Given the description of an element on the screen output the (x, y) to click on. 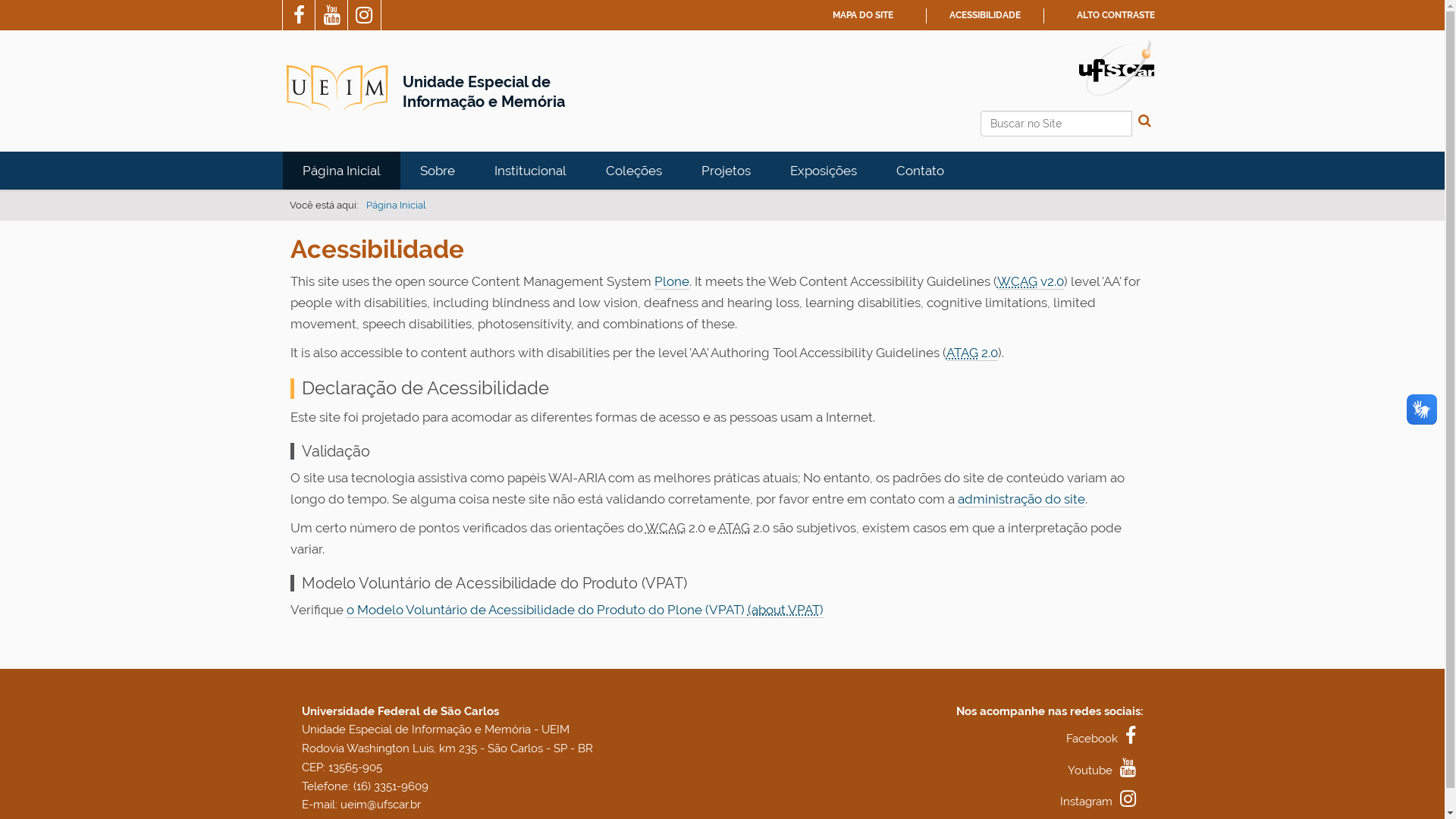
Contato Element type: text (919, 170)
MAPA DO SITE Element type: text (862, 14)
ATAG 2.0 Element type: text (971, 352)
Facebook Element type: text (1104, 738)
Facebook Element type: hover (299, 17)
Projetos Element type: text (724, 170)
Plone Element type: text (670, 281)
ALTO CONTRASTE Element type: text (1115, 14)
Institucional Element type: text (530, 170)
WCAG v2.0 Element type: text (1029, 281)
(about VPAT) Element type: text (785, 610)
Buscar no Site Element type: hover (1055, 123)
YouTube Element type: hover (332, 17)
Instagram Element type: hover (363, 17)
Instagram Element type: text (1101, 801)
ACESSIBILIDADE Element type: text (984, 14)
Portal UFSCar Element type: hover (1116, 66)
Sobre Element type: text (437, 170)
Youtube Element type: text (1105, 770)
